Given the description of an element on the screen output the (x, y) to click on. 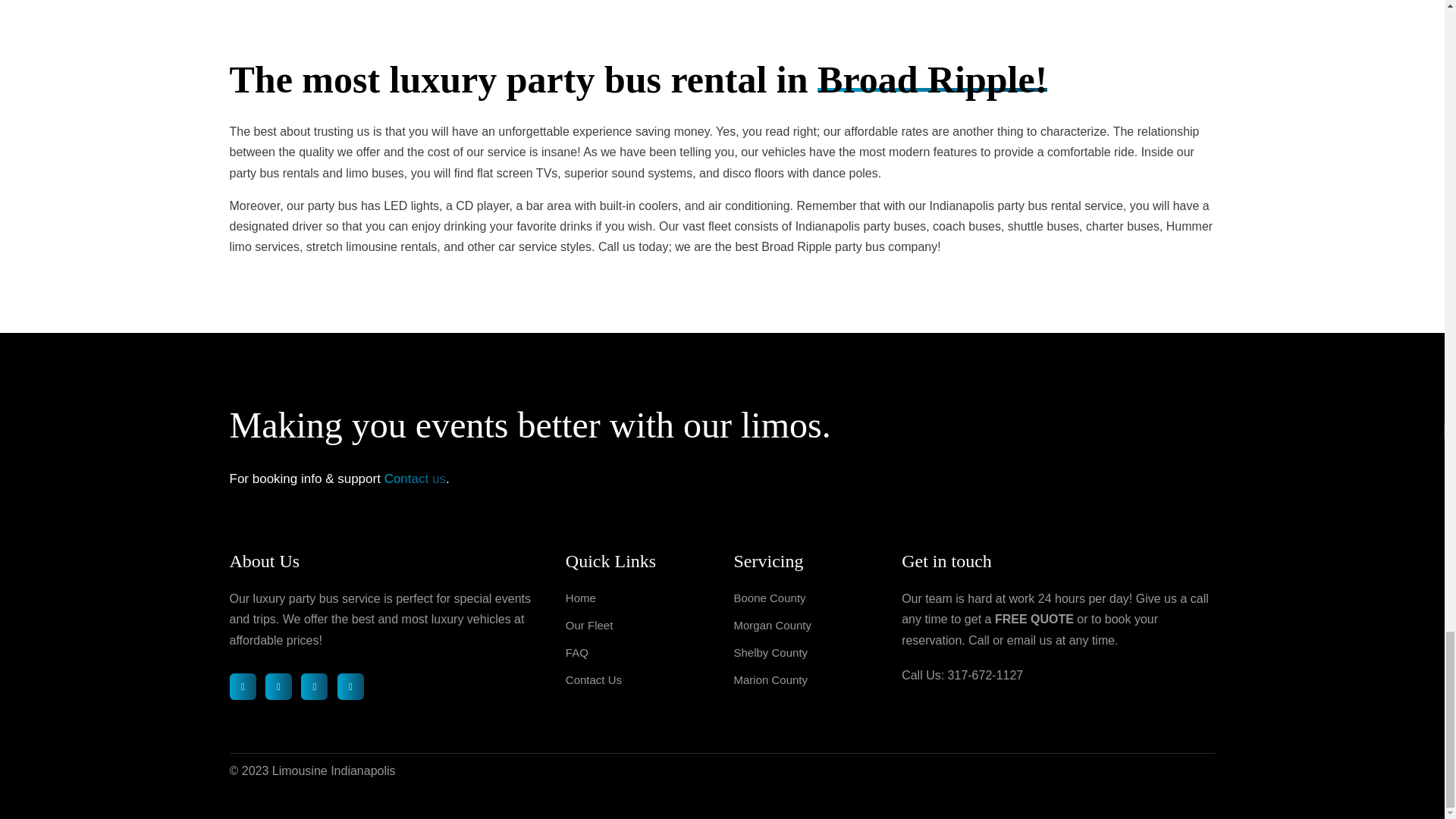
FAQ (577, 652)
Morgan County (771, 625)
Marion County (770, 679)
Our Fleet (589, 625)
Contact Us (593, 679)
Boone County (769, 597)
Shelby County (770, 652)
Home (580, 597)
Contact us (414, 478)
317-672-1127 (985, 675)
